Given the description of an element on the screen output the (x, y) to click on. 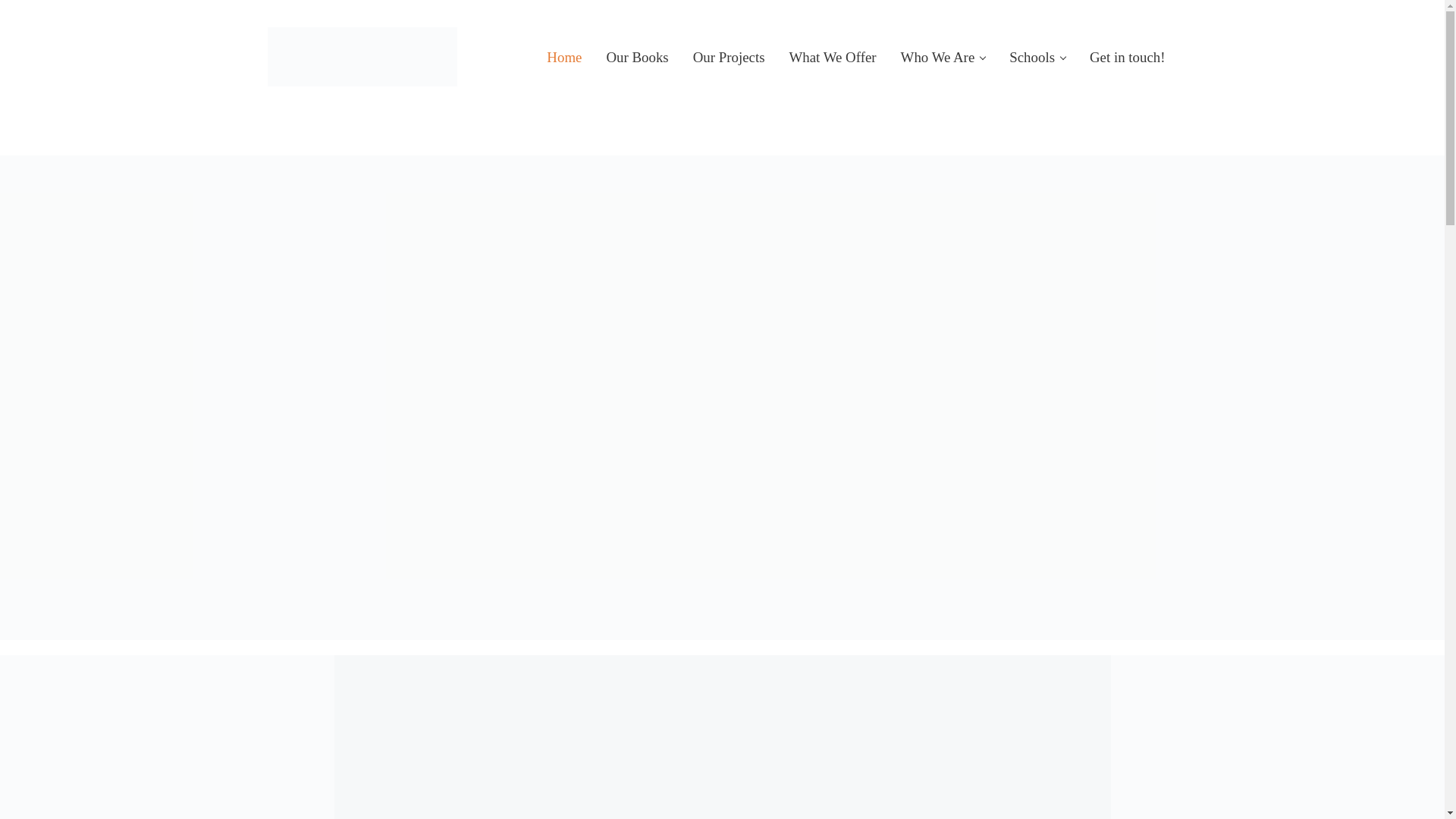
Our Books (636, 56)
Home (564, 56)
Who We Are (942, 56)
Our Projects (729, 56)
Schools (1037, 56)
What We Offer (832, 56)
Get in touch! (1127, 56)
